Given the description of an element on the screen output the (x, y) to click on. 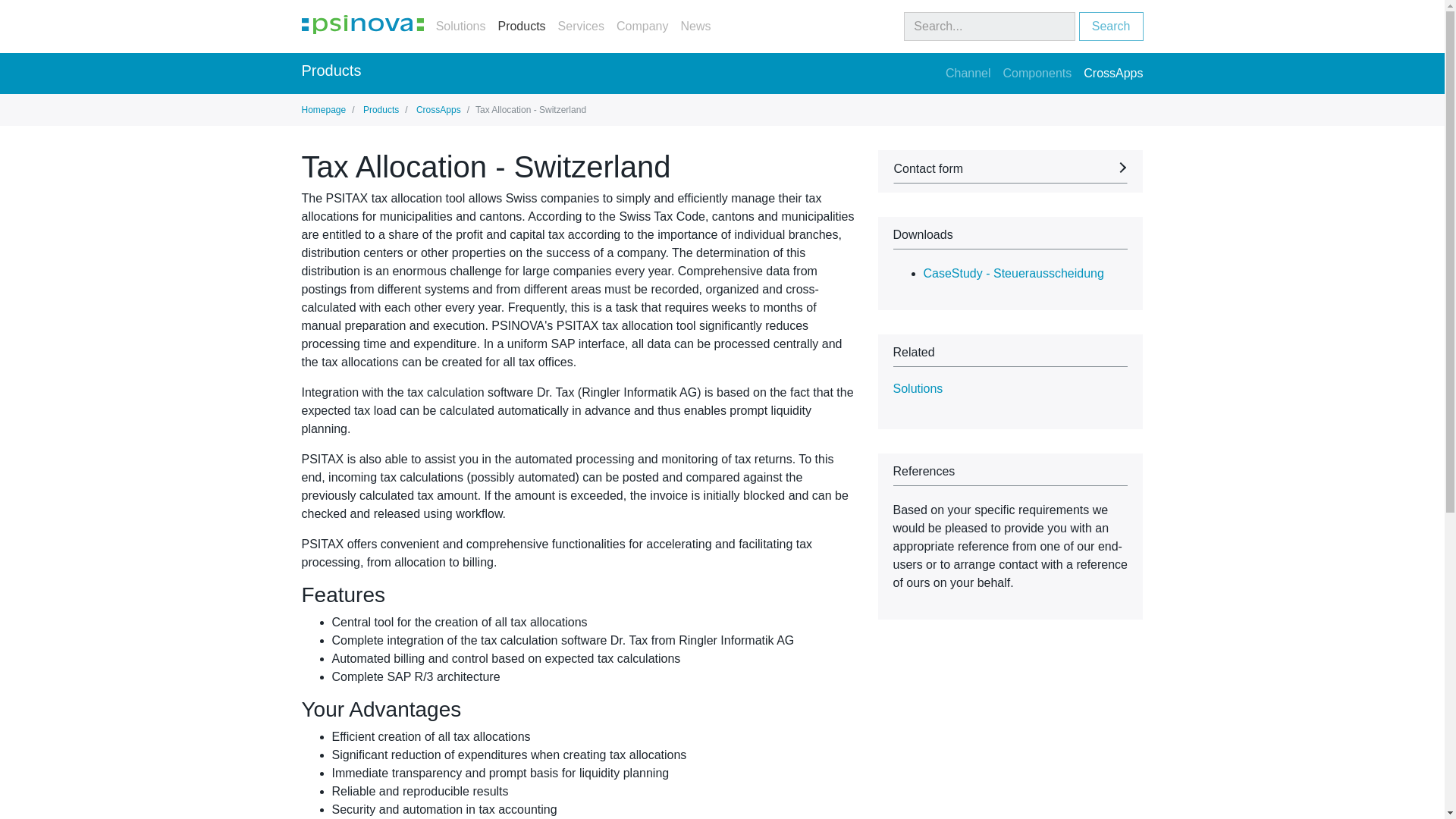
The SAP Expert Team (362, 24)
Search (1110, 26)
Homepage (323, 109)
News (694, 26)
Components (1037, 72)
Solutions (460, 26)
search (989, 26)
Solutions (918, 388)
Products (379, 109)
Channel (967, 72)
Company (641, 26)
Services (580, 26)
Contact form (1010, 170)
Products (520, 26)
CaseStudy - Steuerausscheidung (1013, 273)
